Given the description of an element on the screen output the (x, y) to click on. 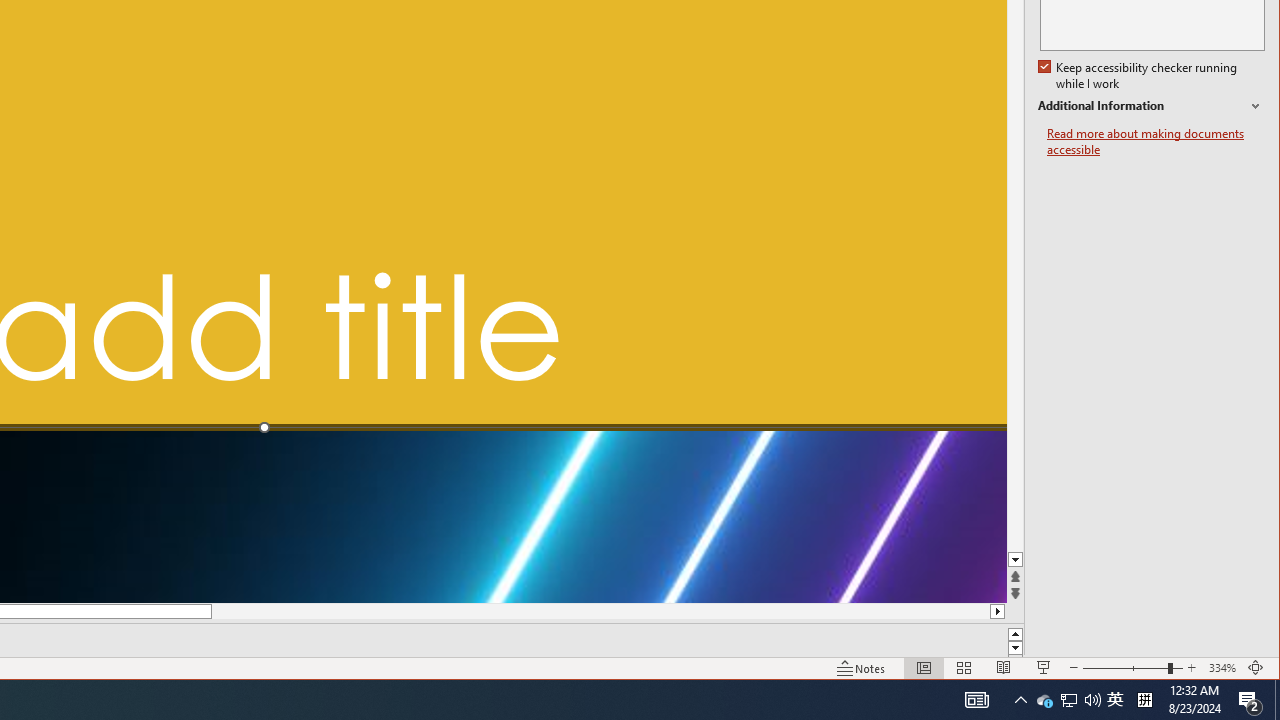
Action Center, 2 new notifications (1250, 699)
Keep accessibility checker running while I work (1139, 76)
Read more about making documents accessible (1155, 142)
